Given the description of an element on the screen output the (x, y) to click on. 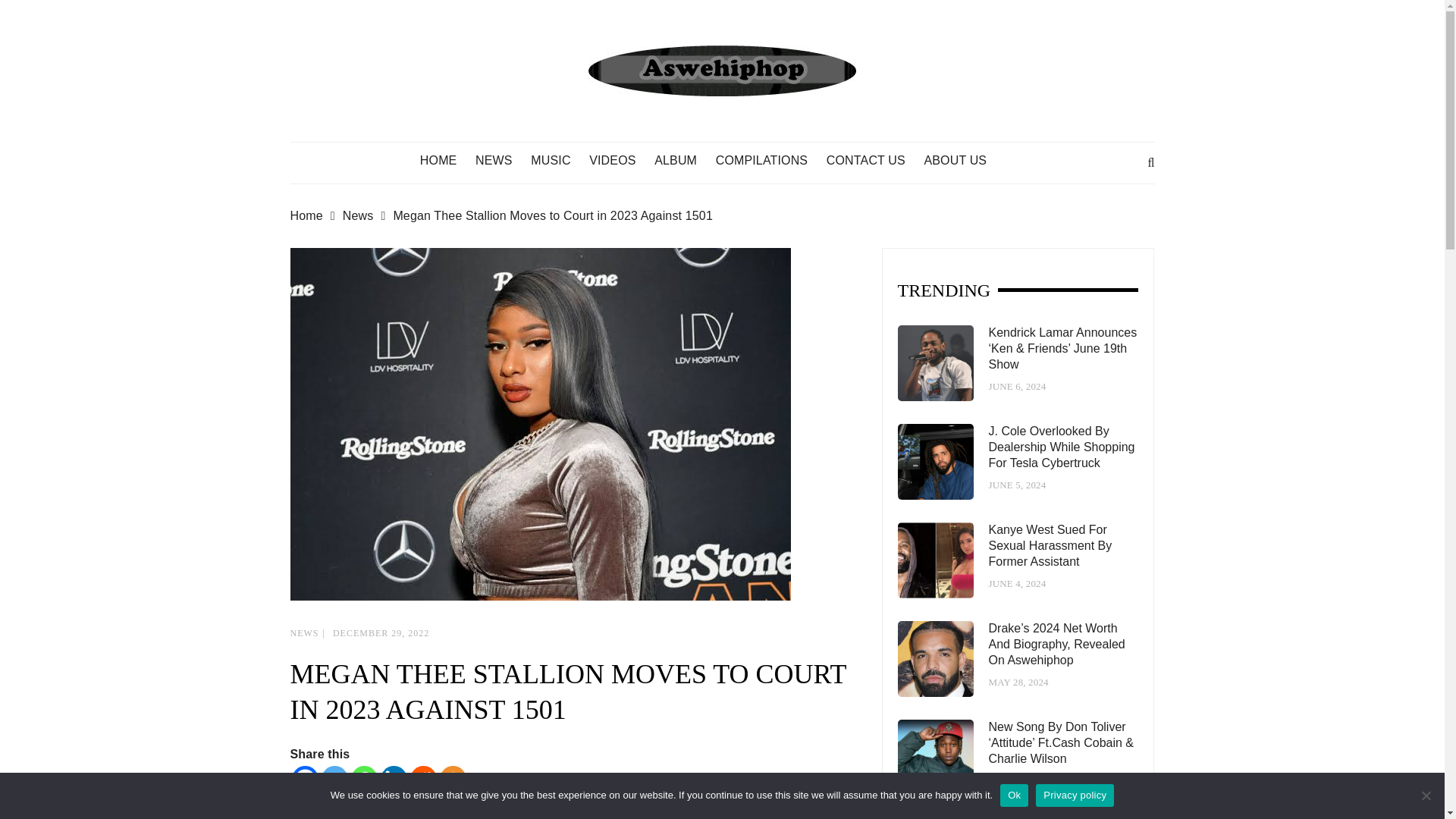
DECEMBER 29, 2022 (381, 633)
Home (315, 216)
Reddit (422, 778)
Linkedin (393, 778)
NEWS (501, 160)
ALBUM (682, 160)
No (1425, 795)
More (452, 778)
ABOUT US (962, 160)
Whatsapp (363, 778)
NEWS (303, 633)
HOME (445, 160)
VIDEOS (619, 160)
News (367, 216)
Facebook (304, 778)
